Given the description of an element on the screen output the (x, y) to click on. 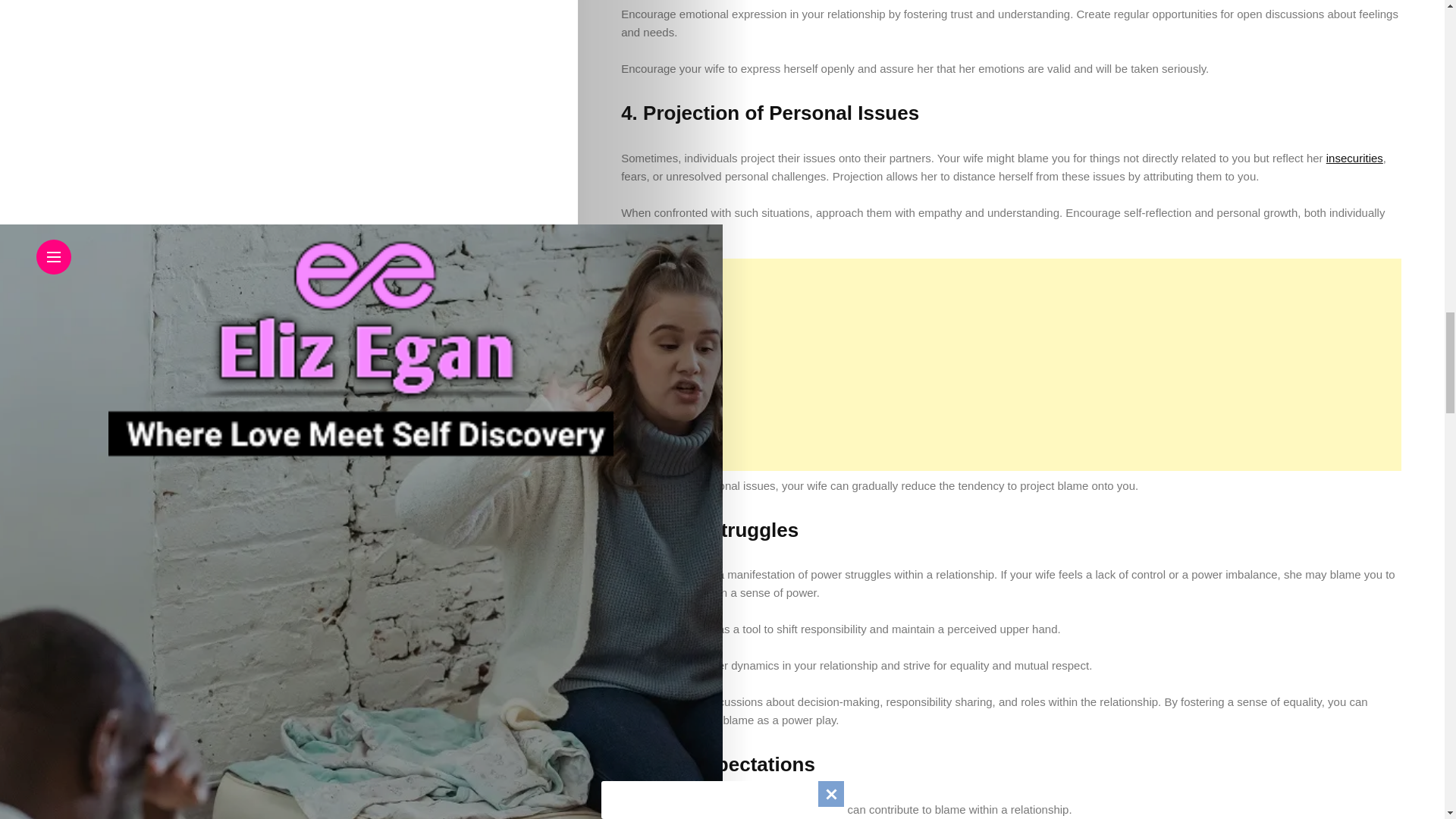
insecurities (1354, 157)
